Given the description of an element on the screen output the (x, y) to click on. 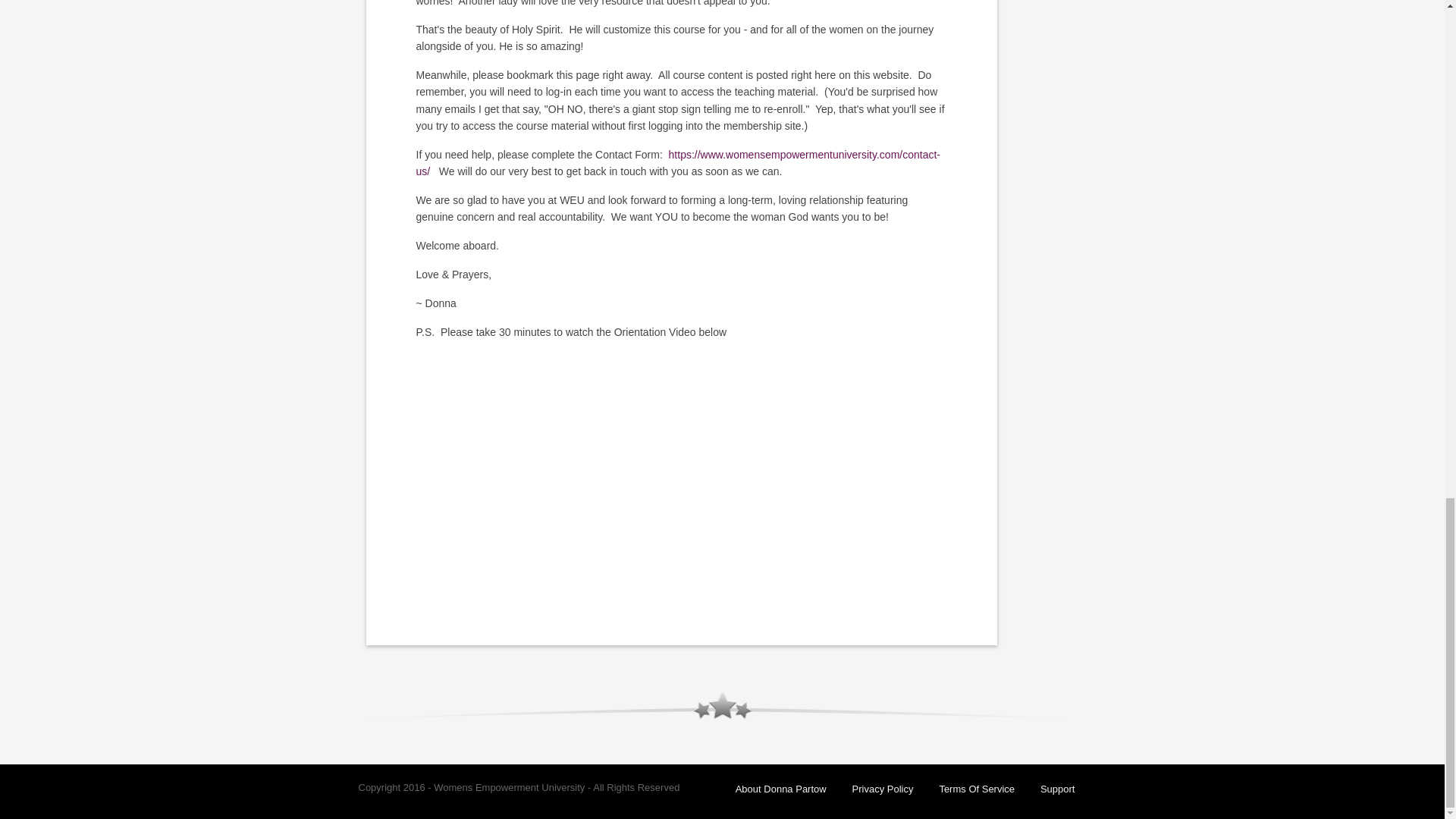
Terms Of Service (976, 788)
Support (1058, 788)
Privacy Policy (882, 788)
About Donna Partow (781, 788)
